Given the description of an element on the screen output the (x, y) to click on. 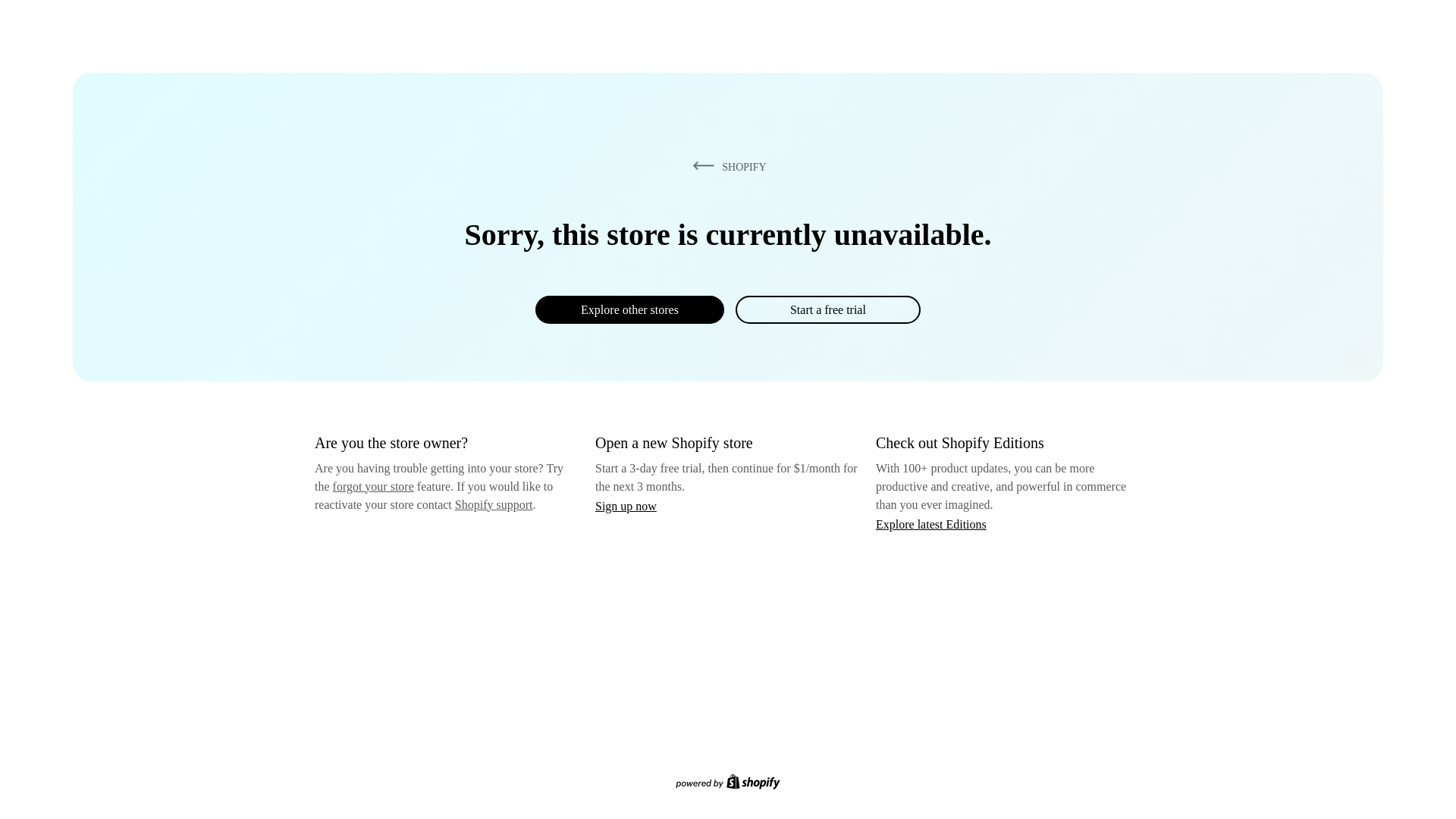
Shopify support (493, 504)
forgot your store (373, 486)
SHOPIFY (726, 166)
Sign up now (625, 505)
Start a free trial (827, 309)
Explore other stores (629, 309)
Explore latest Editions (931, 523)
